Given the description of an element on the screen output the (x, y) to click on. 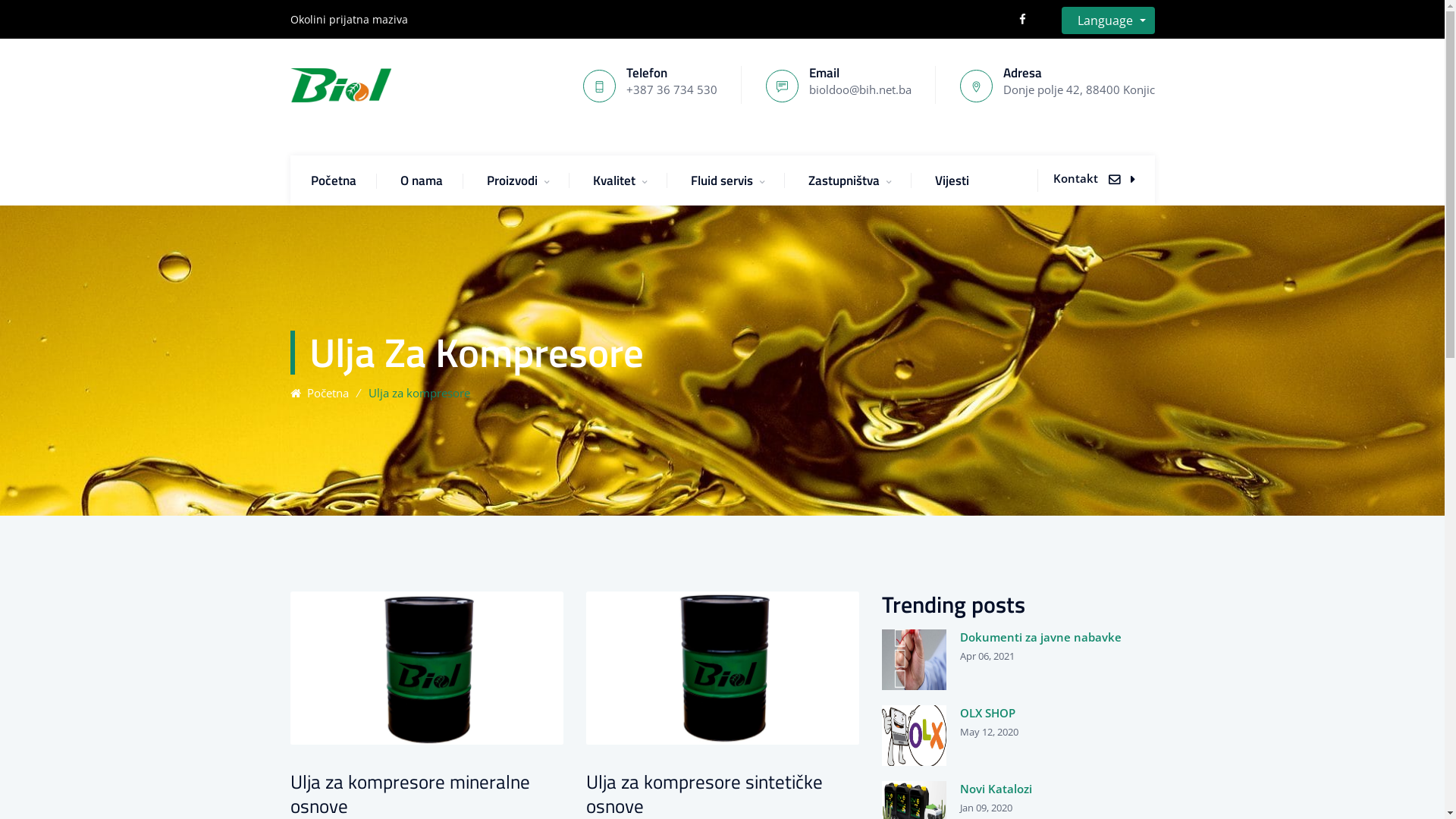
Novi Katalozi Element type: text (1017, 789)
Language Element type: text (1107, 20)
O nama Element type: text (421, 180)
Dokumenti za javne nabavke Element type: text (1017, 637)
Fluid servis Element type: text (726, 179)
Kontakt Element type: text (1092, 177)
Vijesti Element type: text (951, 180)
Tectxon Element type: hover (340, 83)
Proizvodi Element type: text (517, 179)
OLX SHOP Element type: text (1017, 713)
Kvalitet Element type: text (619, 179)
